Given the description of an element on the screen output the (x, y) to click on. 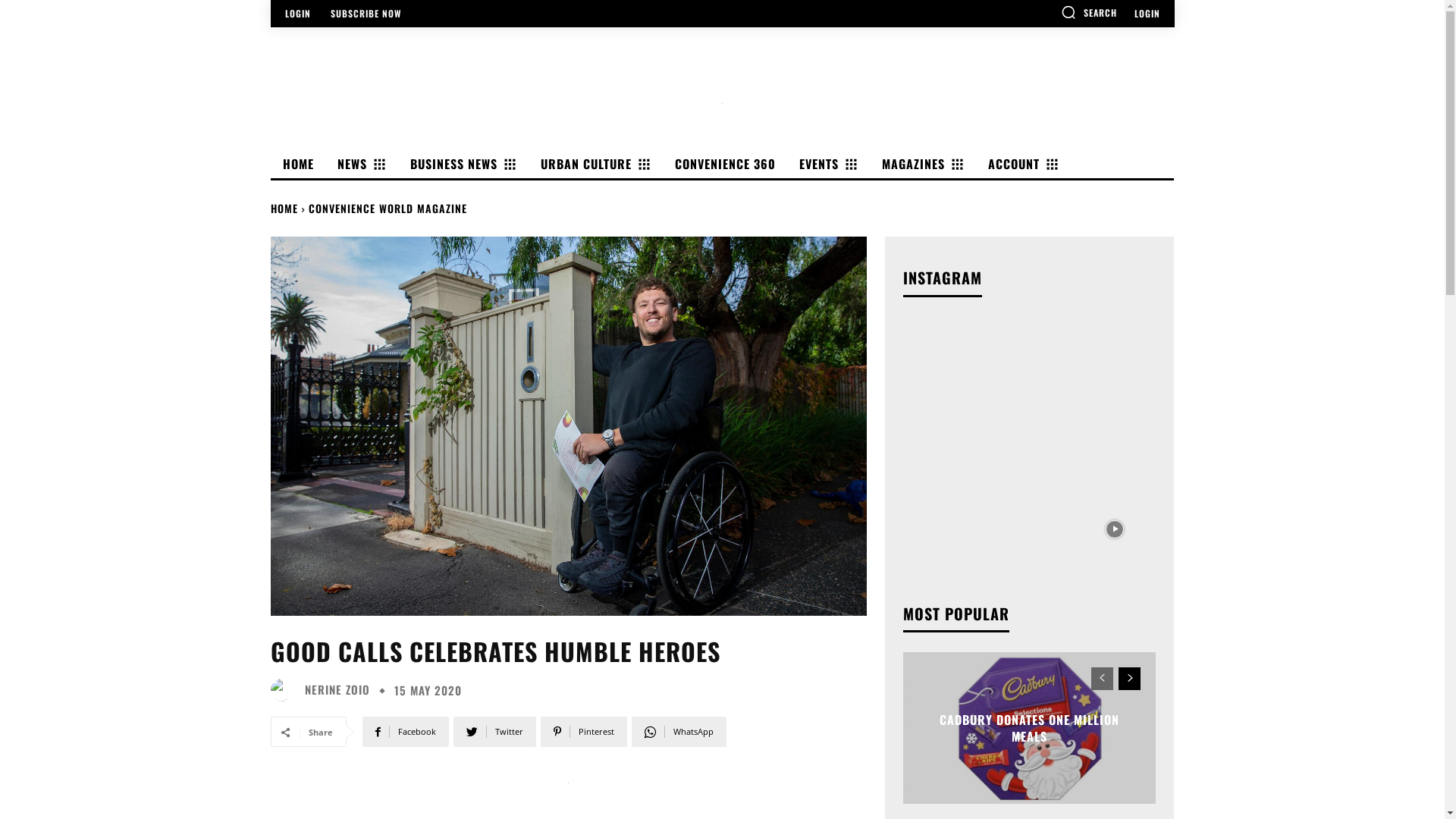
HOME Element type: text (283, 208)
EVENTS Element type: text (826, 163)
CADBURY DONATES ONE MILLION MEALS Element type: text (1029, 726)
ACCOUNT Element type: text (1020, 163)
Pinterest Element type: text (582, 731)
CONVENIENCE 360 Element type: text (722, 163)
SUBSCRIBE NOW Element type: text (365, 13)
MAGAZINES Element type: text (920, 163)
BUSINESS NEWS Element type: text (460, 163)
WhatsApp Element type: text (677, 731)
LOGIN Element type: text (1147, 13)
Nerine Zoio Element type: hover (284, 689)
Twitter Element type: text (494, 731)
NEWS Element type: text (358, 163)
Cadbury donates one million meals Element type: hover (1029, 727)
URBAN CULTURE Element type: text (592, 163)
CONVENIENCE WORLD MAGAZINE Element type: text (386, 208)
Facebook Element type: text (405, 731)
LOGIN Element type: text (297, 13)
SEARCH Element type: text (1088, 11)
HOME Element type: text (294, 163)
NERINE ZOIO Element type: text (337, 689)
